Given the description of an element on the screen output the (x, y) to click on. 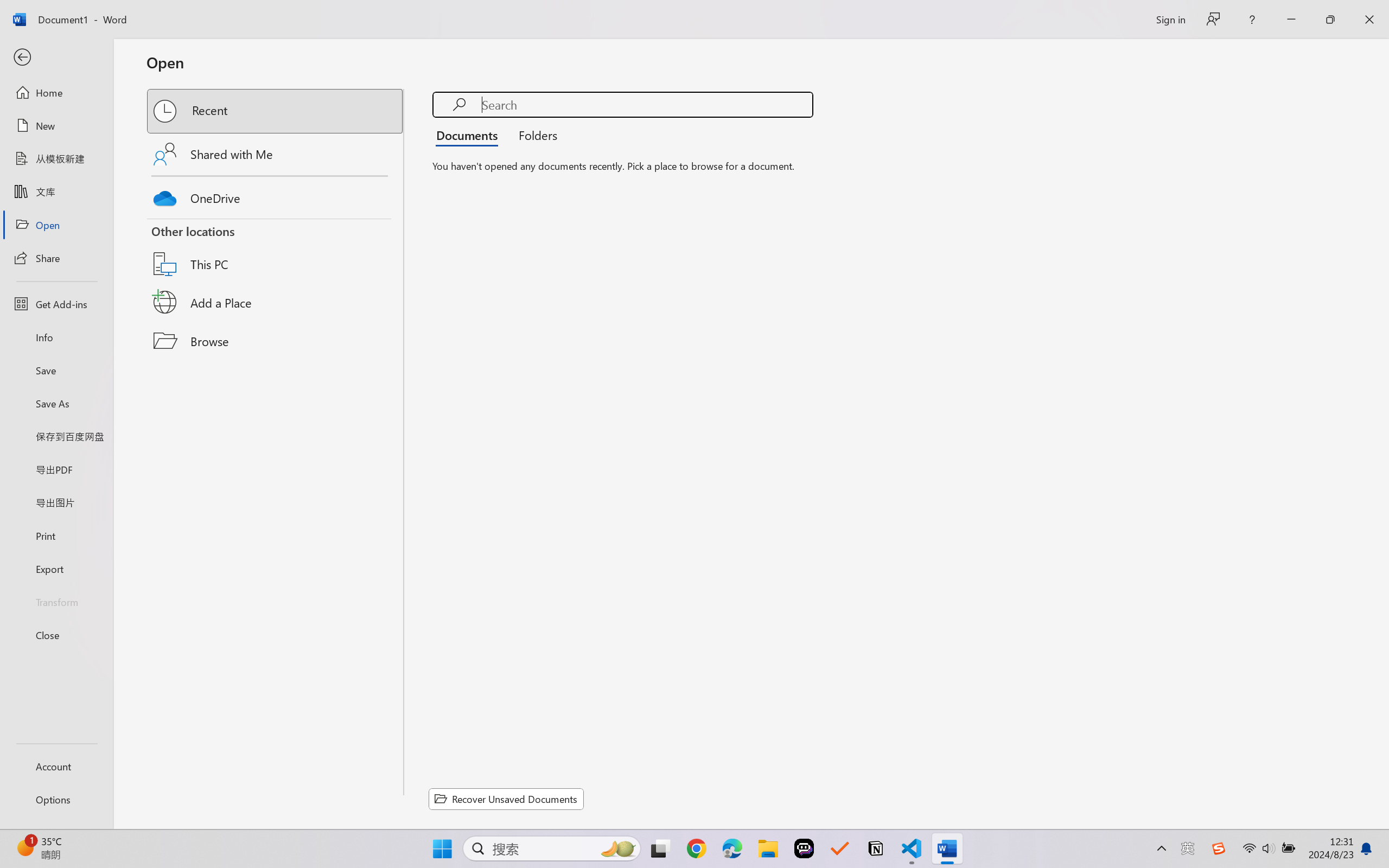
Account (56, 765)
Info (56, 337)
Save As (56, 403)
Transform (56, 601)
Add a Place (275, 302)
